Given the description of an element on the screen output the (x, y) to click on. 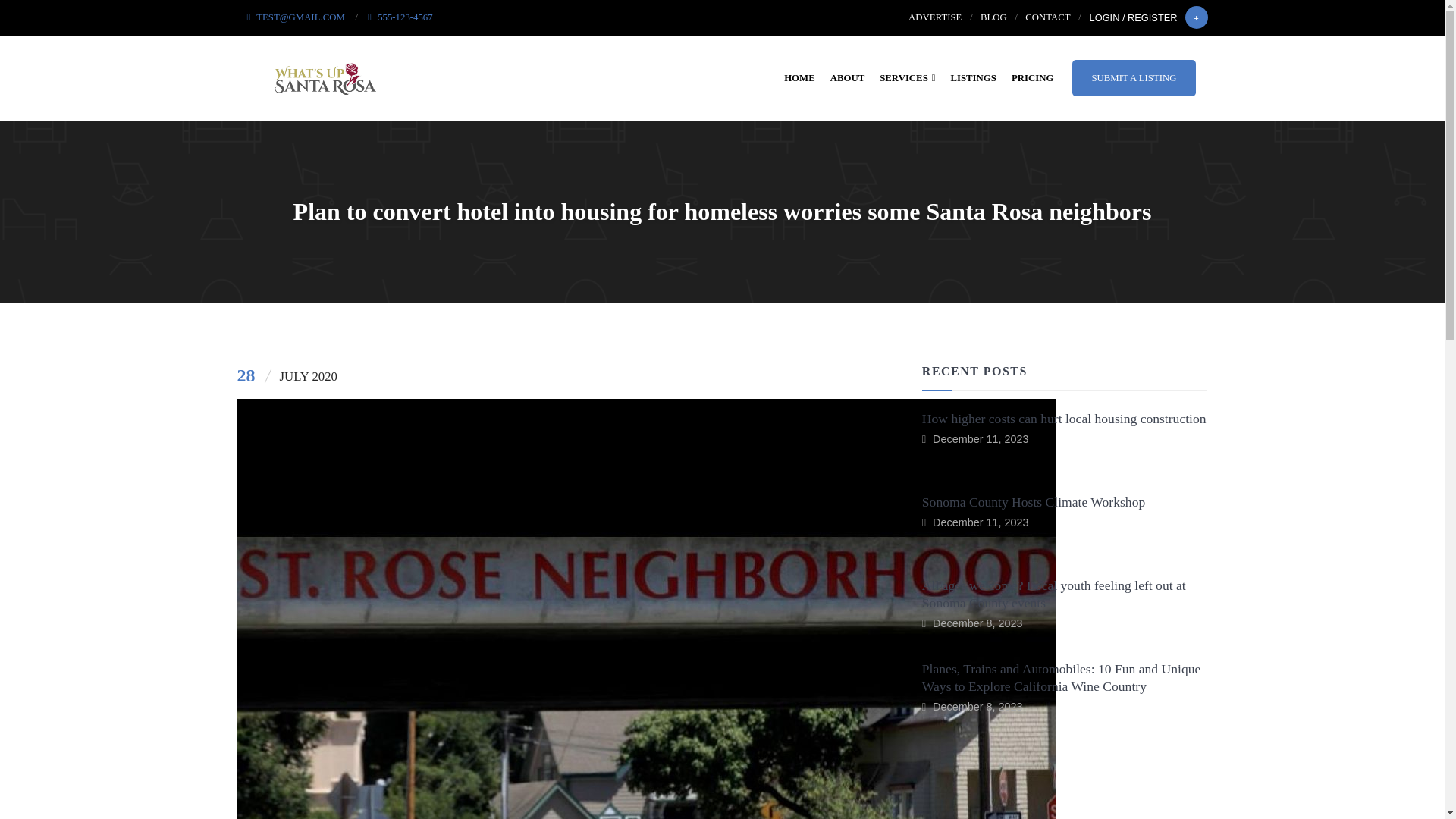
HOME (799, 77)
555-123-4567 (400, 17)
SERVICES (907, 77)
Sonoma County Hosts Climate Workshop (1032, 501)
SUBMIT A LISTING (1133, 77)
How higher costs can hurt local housing construction (1064, 418)
CONTACT (1047, 17)
